Given the description of an element on the screen output the (x, y) to click on. 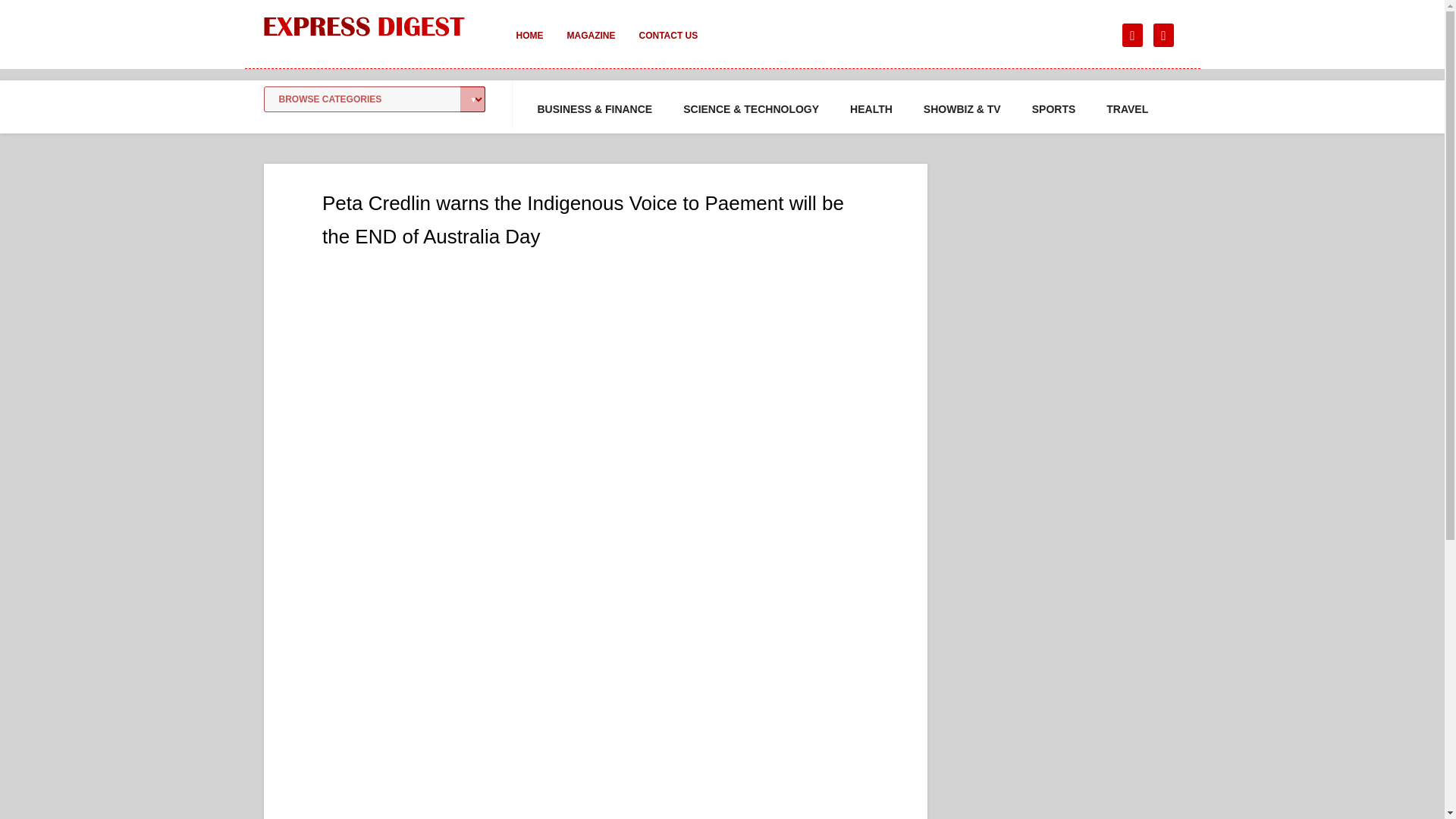
HEALTH (871, 109)
CONTACT US (667, 45)
MAGAZINE (590, 45)
TRAVEL (1127, 109)
SPORTS (1053, 109)
